Given the description of an element on the screen output the (x, y) to click on. 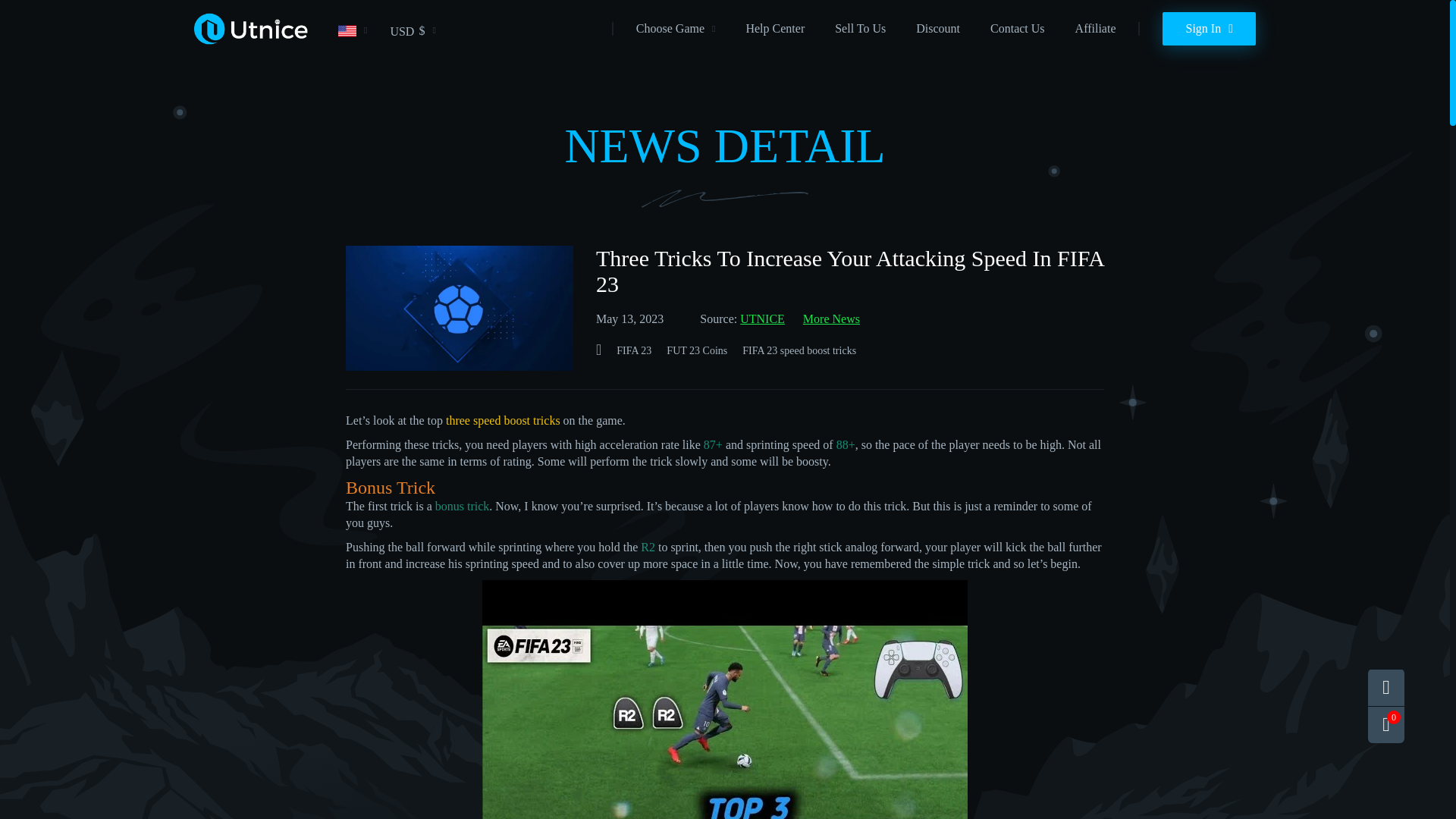
Affiliate (1095, 29)
Discount (937, 29)
Sign In (1208, 28)
FIFA 23 Three Tricks To Increase Your Attacking Speed (724, 699)
Login (1208, 28)
Sell To Us (859, 29)
UTNICE.com (250, 42)
Help Center (775, 29)
Contact Us (1017, 29)
